Given the description of an element on the screen output the (x, y) to click on. 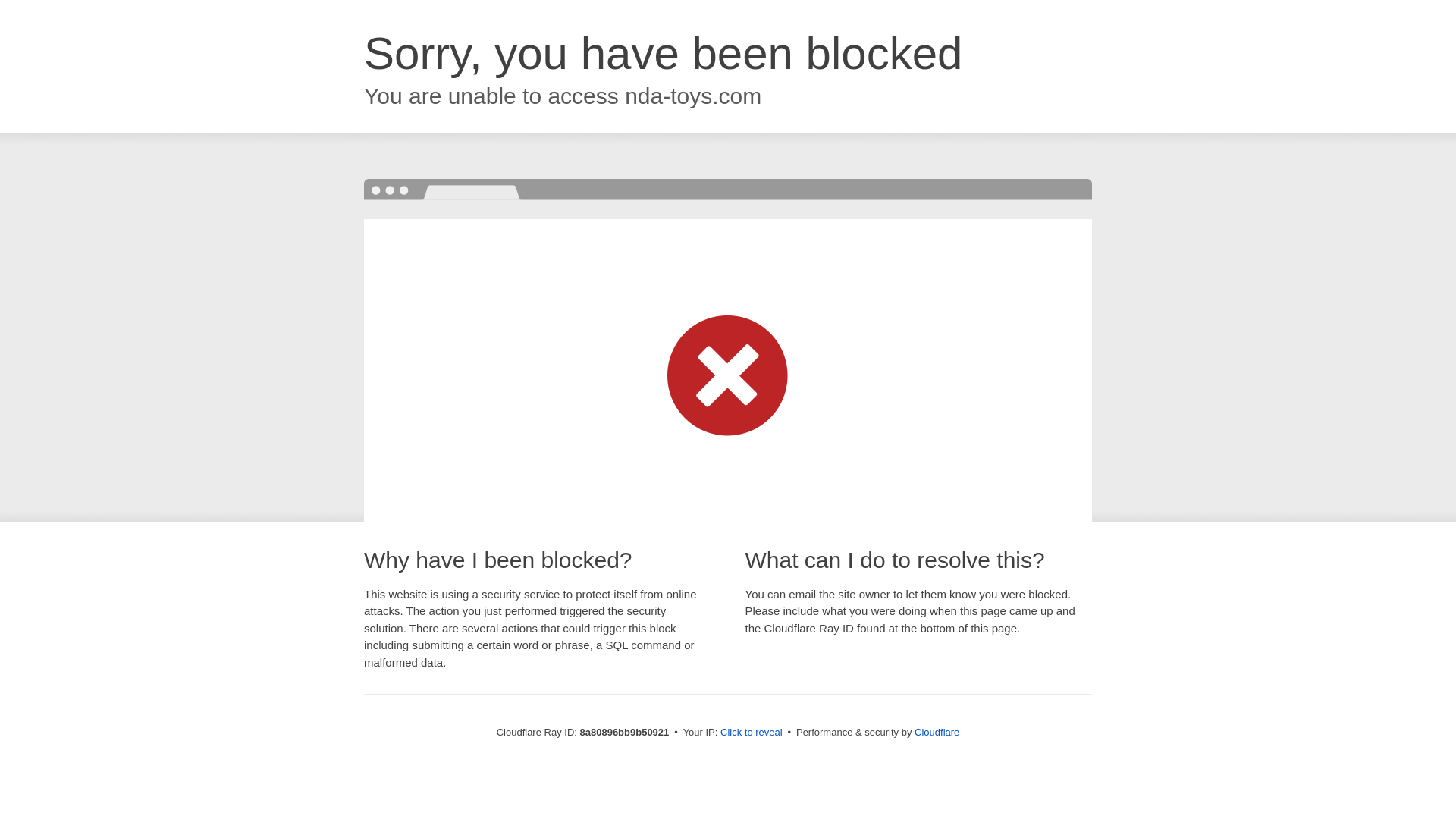
Click to reveal (751, 732)
Cloudflare (936, 731)
